Given the description of an element on the screen output the (x, y) to click on. 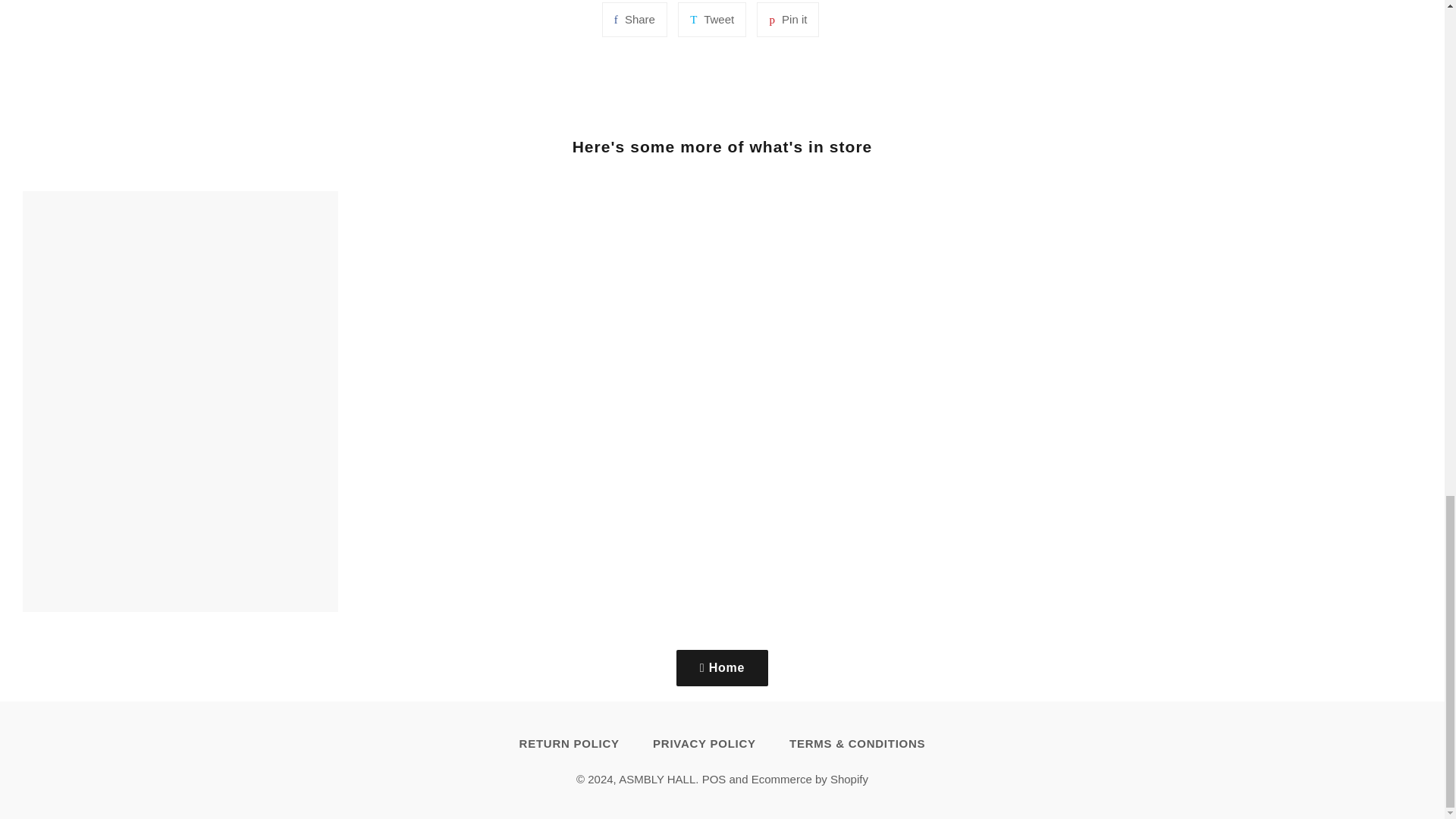
PRIVACY POLICY (704, 743)
Tweet on Twitter (711, 19)
POS (634, 19)
ASMBLY HALL (713, 779)
Pin on Pinterest (711, 19)
Ecommerce by Shopify (656, 779)
RETURN POLICY (787, 19)
